Given the description of an element on the screen output the (x, y) to click on. 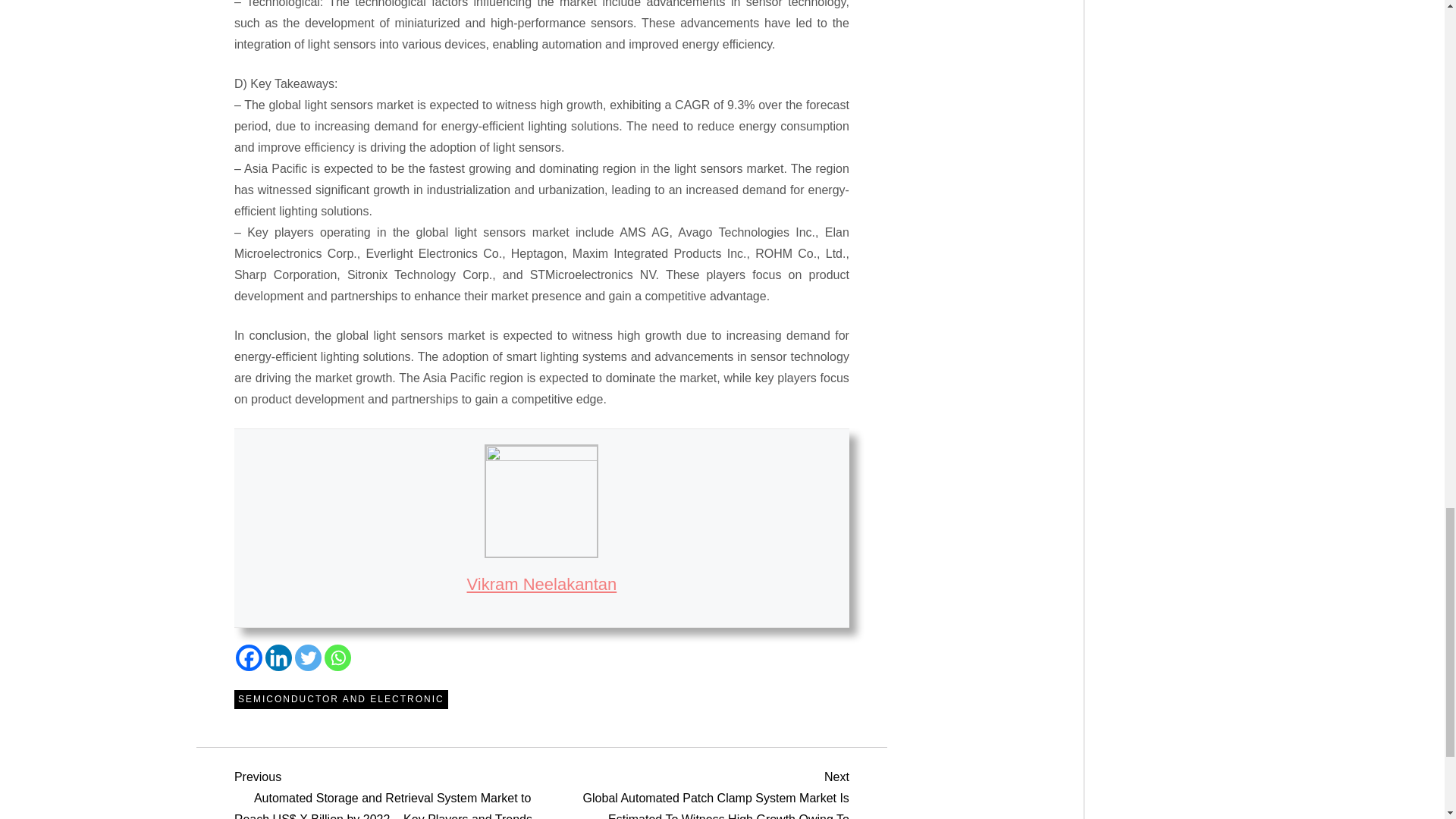
SEMICONDUCTOR AND ELECTRONIC (341, 700)
Twitter (308, 657)
Whatsapp (337, 657)
Linkedin (278, 657)
Vikram Neelakantan (542, 583)
Facebook (248, 657)
